Given the description of an element on the screen output the (x, y) to click on. 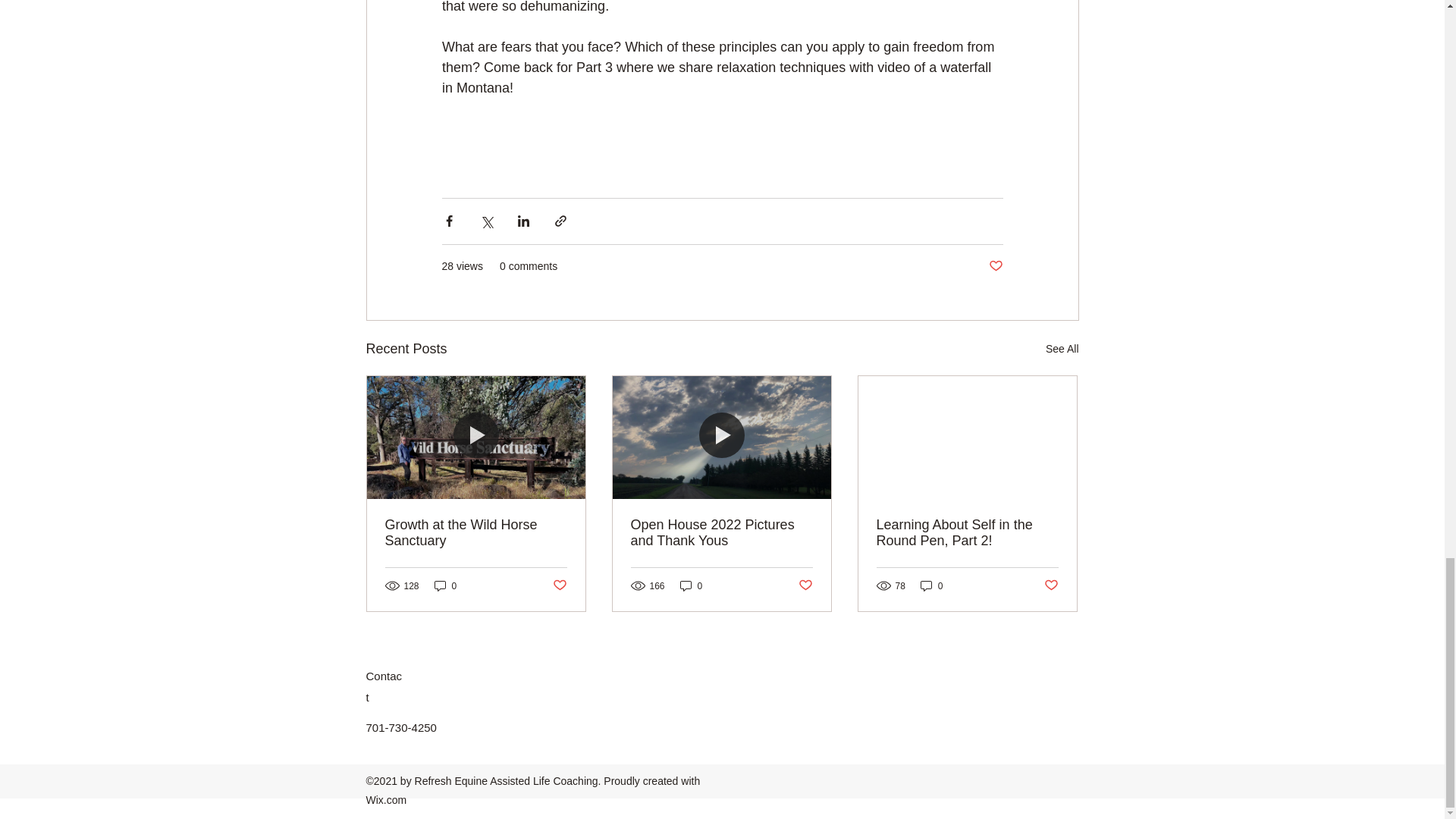
Learning About Self in the Round Pen, Part 2! (967, 532)
Post not marked as liked (558, 585)
Post not marked as liked (995, 266)
Post not marked as liked (1050, 585)
0 (691, 585)
Open House 2022 Pictures and Thank Yous (721, 532)
Growth at the Wild Horse Sanctuary (476, 532)
0 (931, 585)
0 (445, 585)
Post not marked as liked (804, 585)
See All (1061, 349)
